Given the description of an element on the screen output the (x, y) to click on. 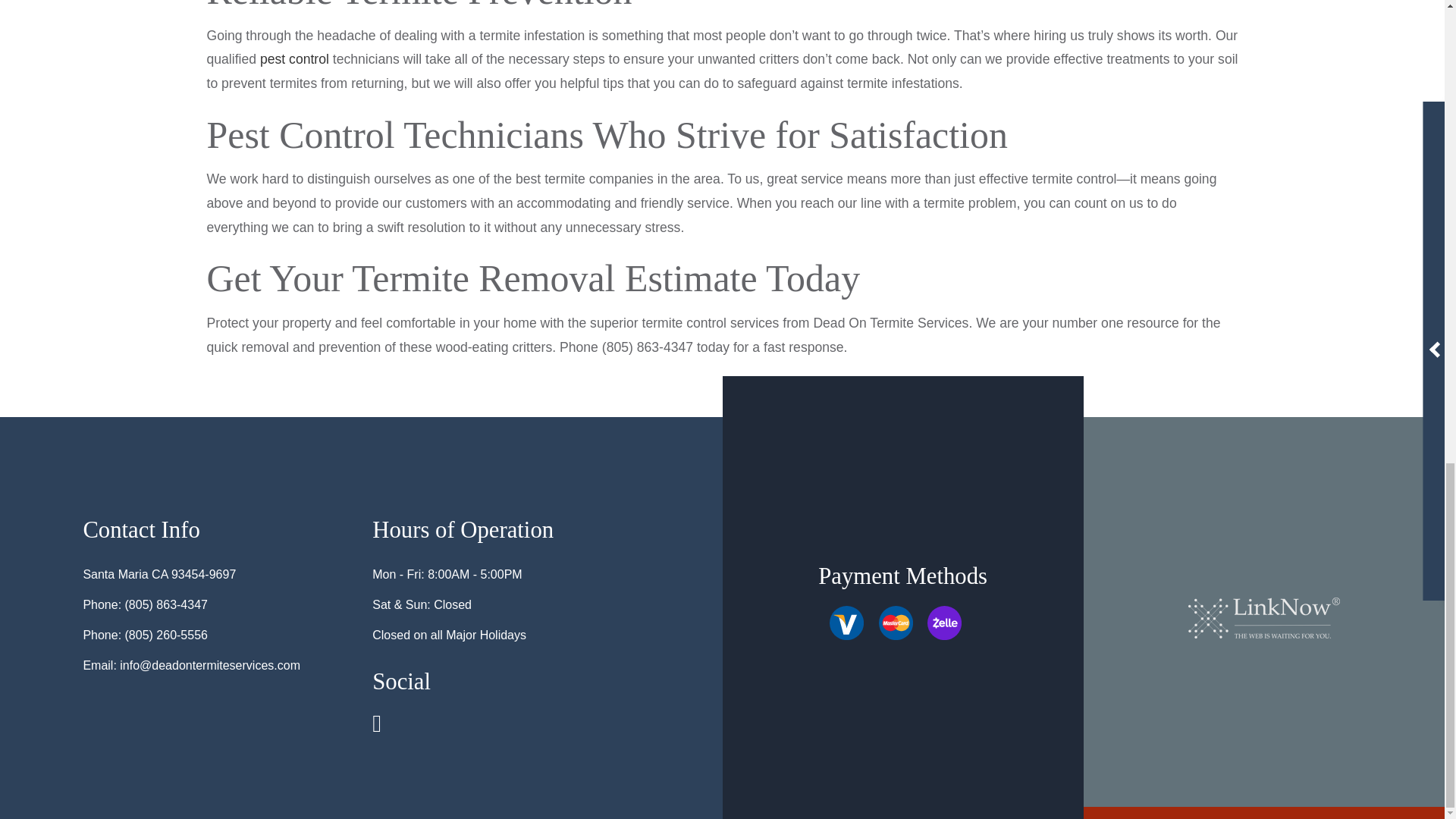
Learn more about Pest Control Services (294, 58)
